Given the description of an element on the screen output the (x, y) to click on. 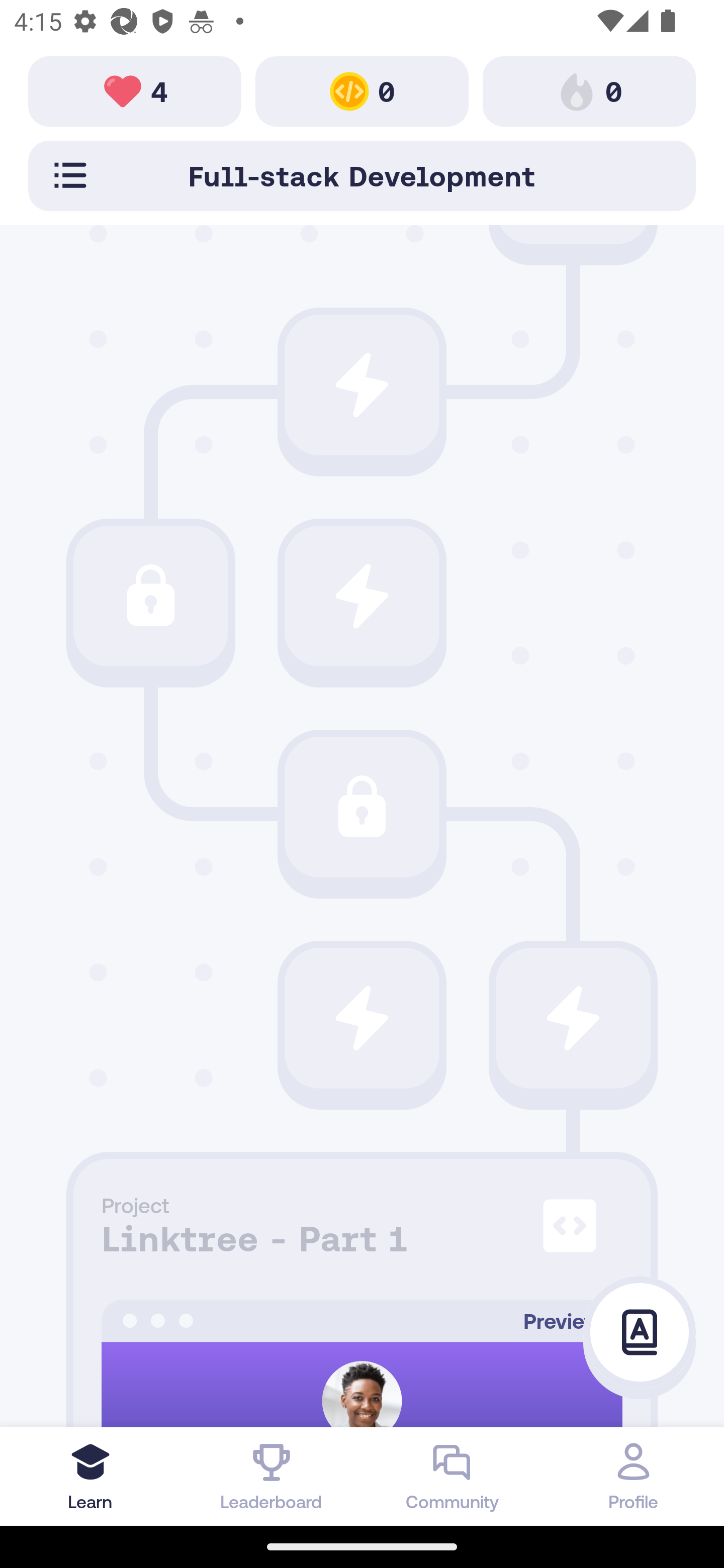
Path Toolbar Image 4 (134, 90)
Path Toolbar Image 0 (361, 90)
Path Toolbar Image 0 (588, 90)
Path Toolbar Selector Full-stack Development (361, 175)
Path Icon (361, 384)
Path Icon (150, 595)
Path Icon (361, 595)
Path Icon (361, 807)
Path Icon (361, 1017)
Path Icon (572, 1017)
Glossary Icon (639, 1332)
Leaderboard (271, 1475)
Community (452, 1475)
Profile (633, 1475)
